Given the description of an element on the screen output the (x, y) to click on. 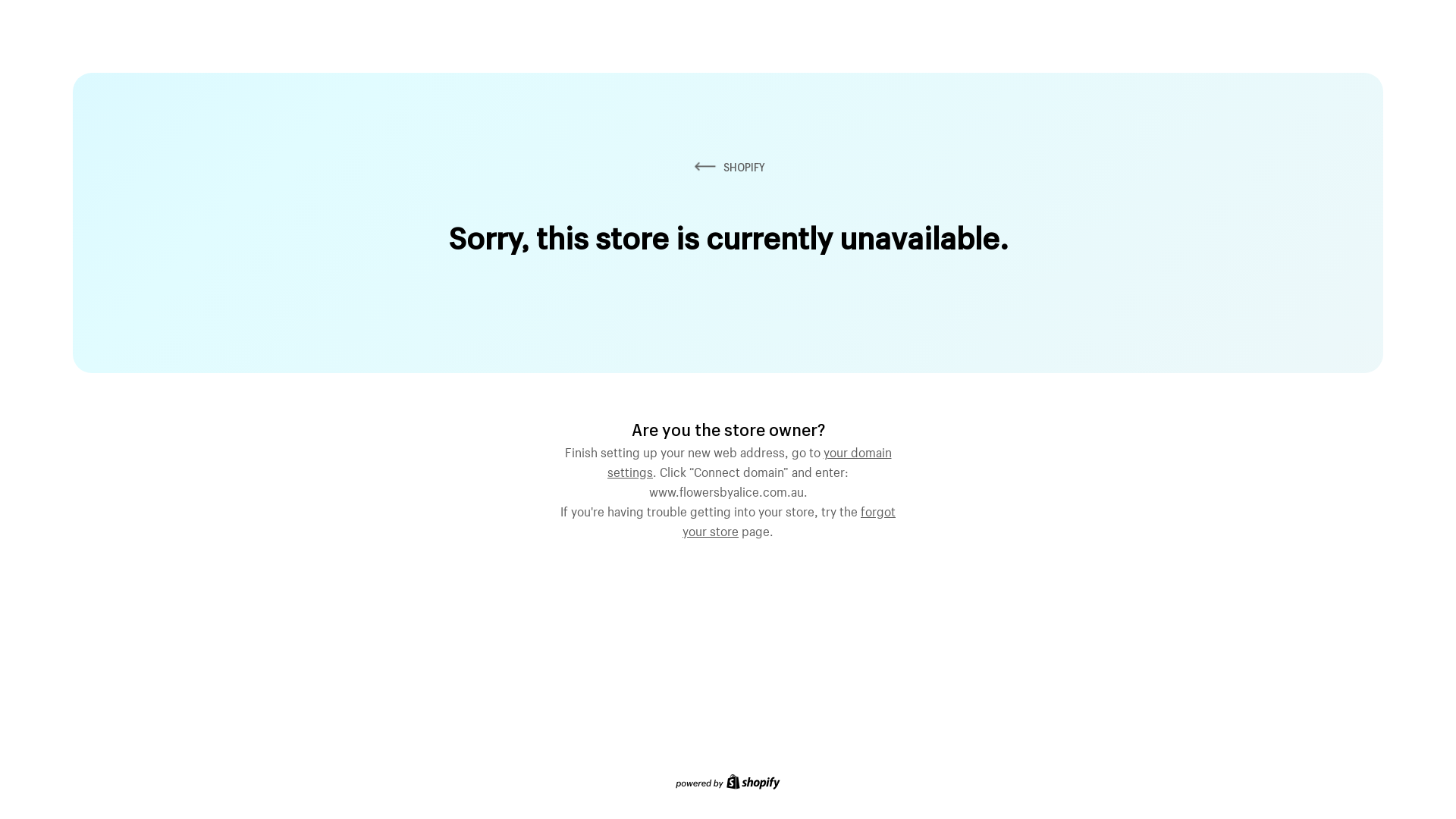
your domain settings Element type: text (749, 460)
SHOPIFY Element type: text (727, 167)
forgot your store Element type: text (788, 519)
